Given the description of an element on the screen output the (x, y) to click on. 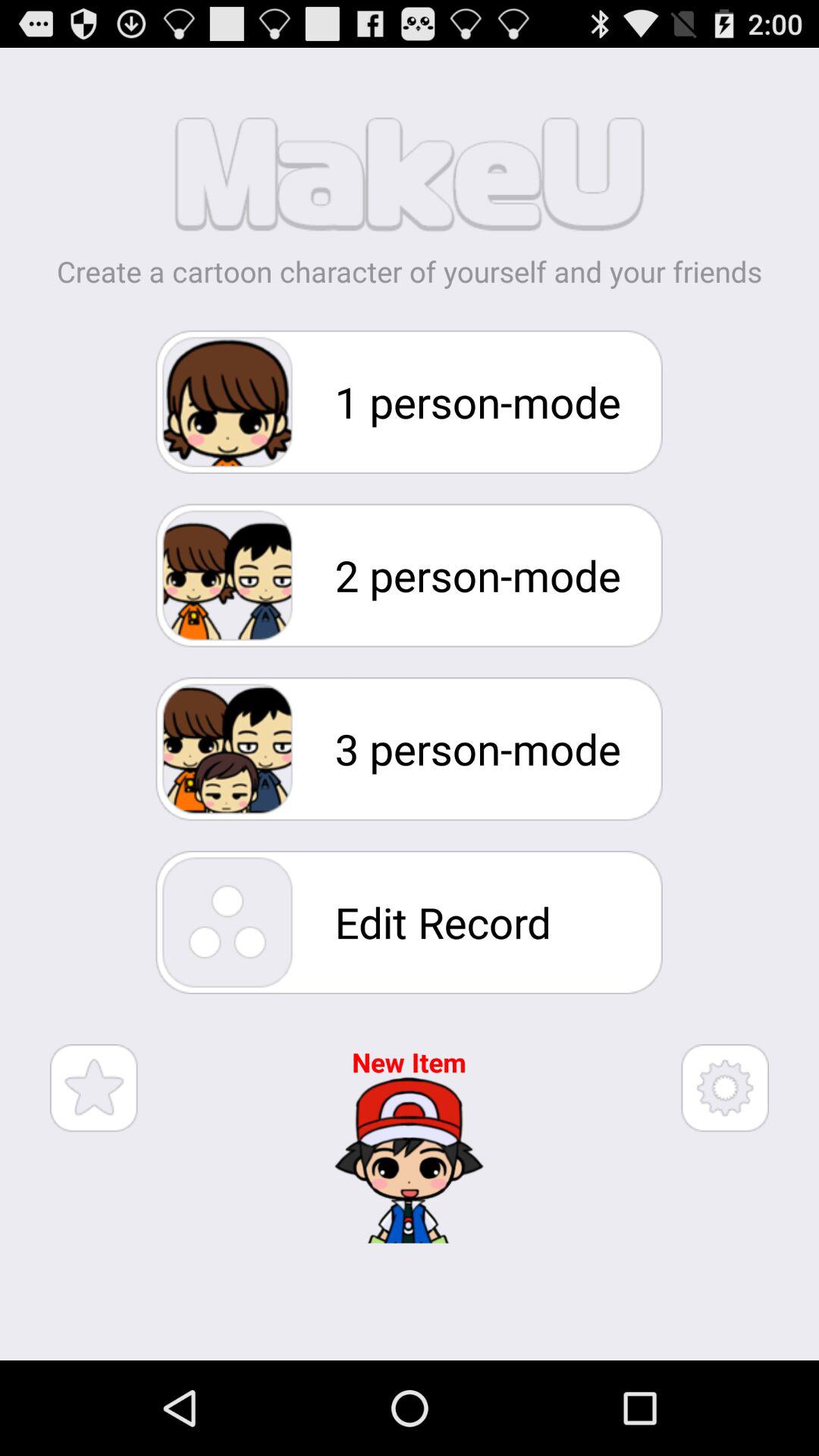
settings (724, 1087)
